Given the description of an element on the screen output the (x, y) to click on. 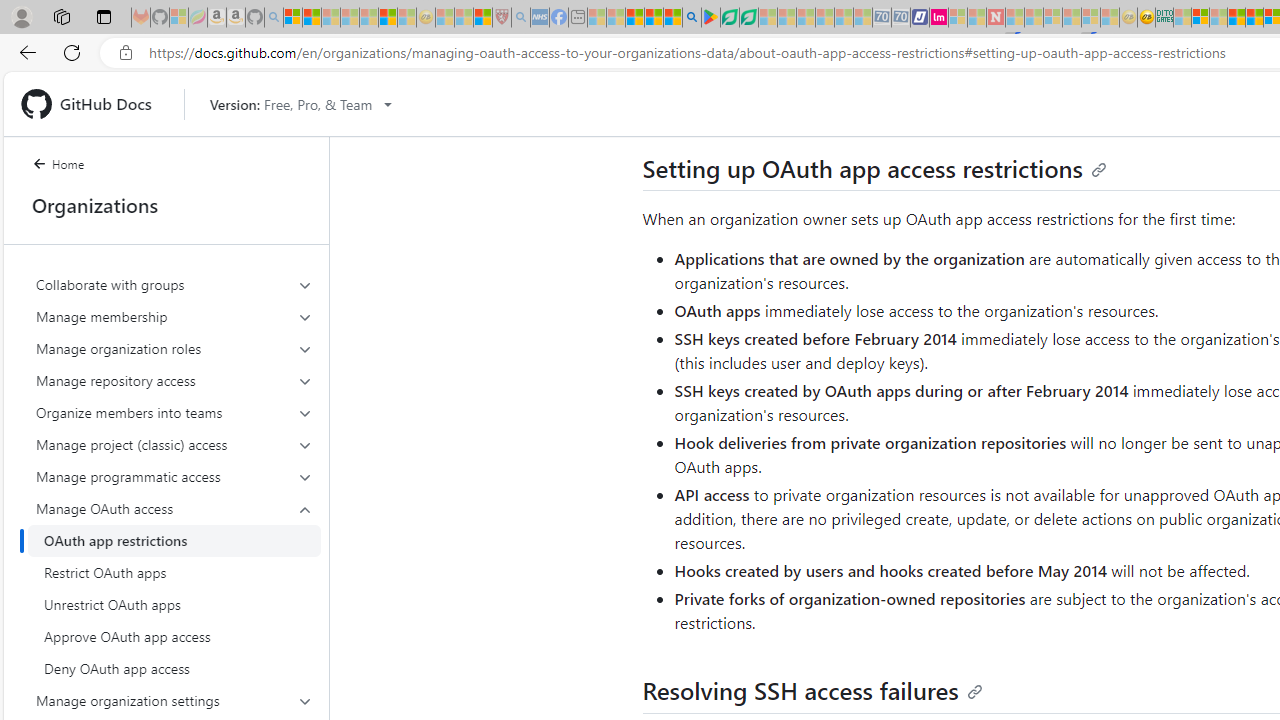
OAuth app restrictions (174, 540)
Manage membership (174, 316)
Manage membership (174, 316)
Deny OAuth app access (174, 668)
Manage programmatic access (174, 476)
Manage project (classic) access (174, 444)
Resolving SSH access failures (812, 690)
